Given the description of an element on the screen output the (x, y) to click on. 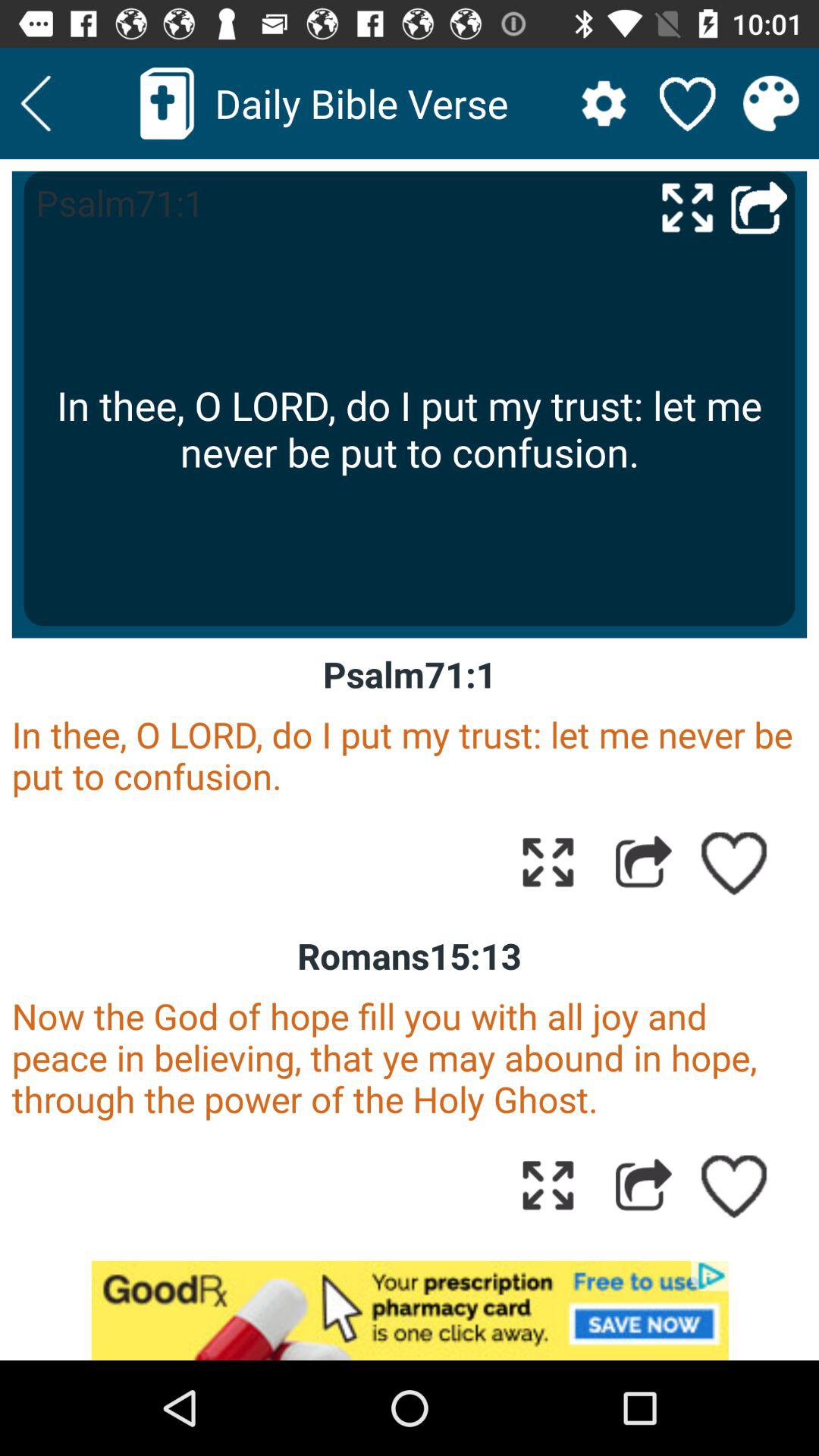
shortcut option (759, 206)
